Given the description of an element on the screen output the (x, y) to click on. 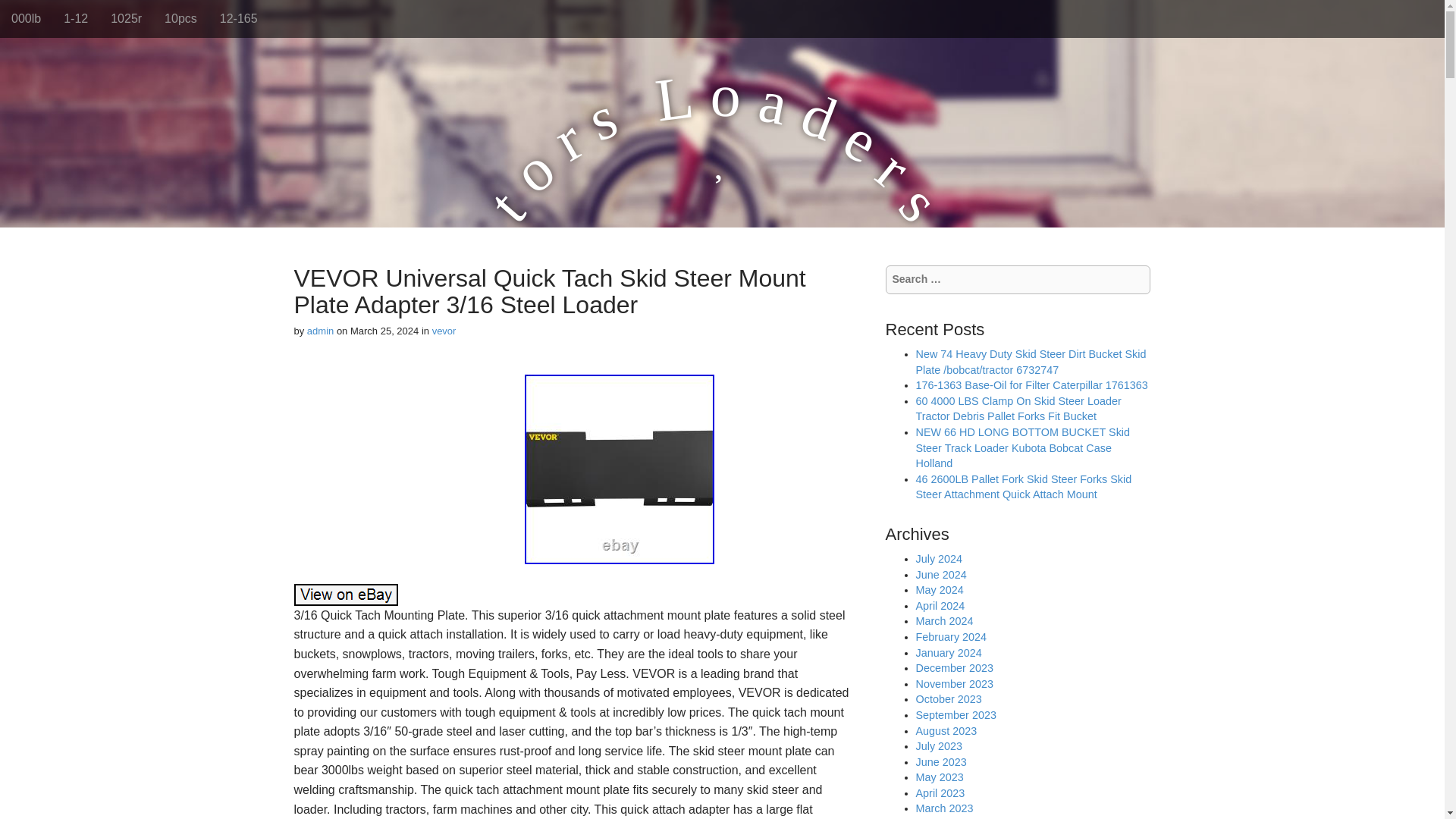
176-1363 Base-Oil for Filter Caterpillar 1761363 (1031, 385)
March 25, 2024 (384, 330)
1-12 (75, 18)
vevor (444, 330)
1025r (125, 18)
000lb (26, 18)
June 2024 (940, 574)
admin (320, 330)
Posts by admin (320, 330)
10pcs (180, 18)
12-165 (238, 18)
July 2024 (938, 558)
